Given the description of an element on the screen output the (x, y) to click on. 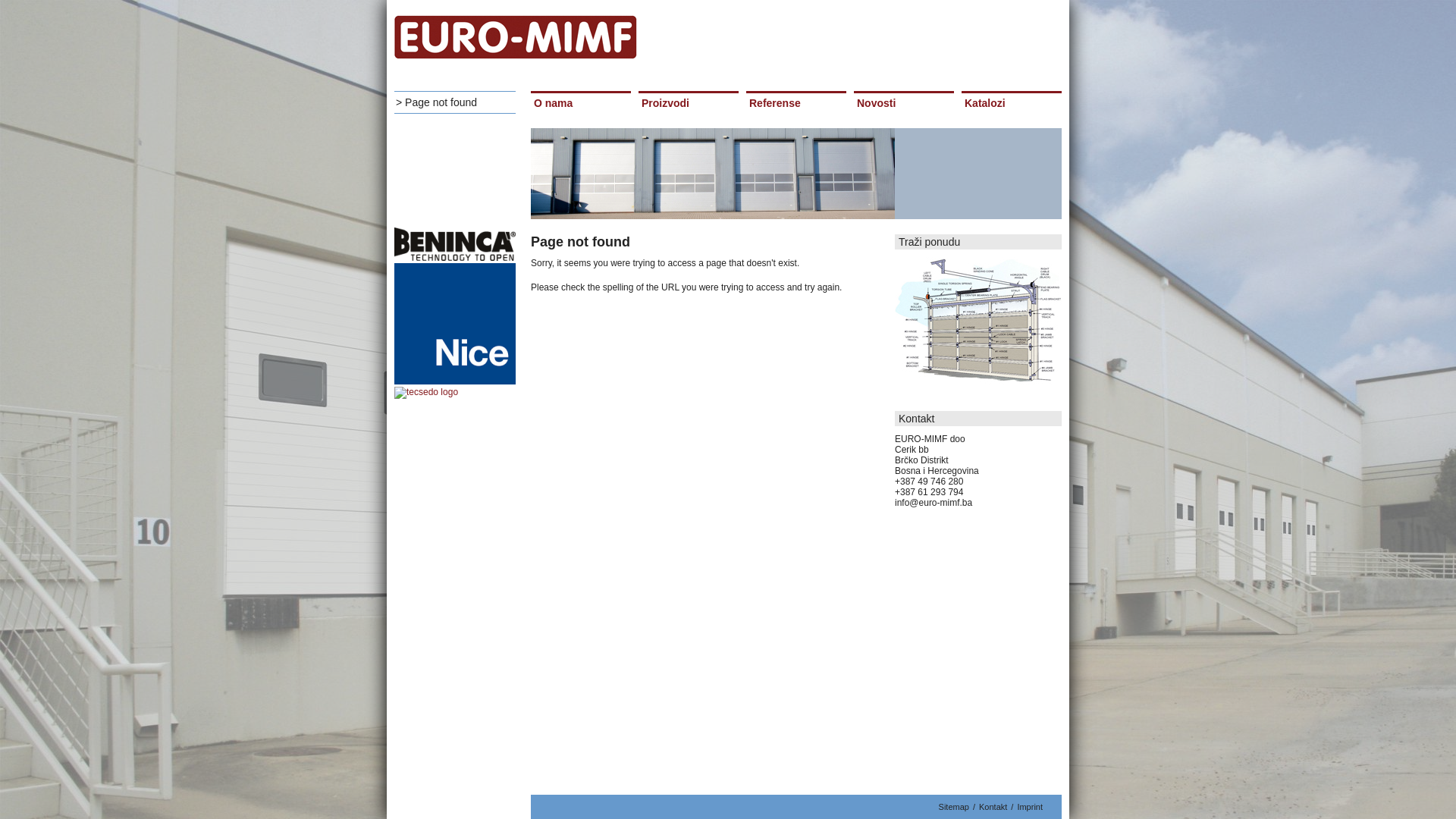
Kontakt Element type: text (992, 806)
Imprint Element type: text (1029, 806)
Referense Element type: text (795, 102)
O nama Element type: text (579, 102)
Katalozi Element type: text (1010, 102)
Sitemap Element type: text (953, 806)
Novosti Element type: text (902, 102)
Proizvodi Element type: text (687, 102)
